Given the description of an element on the screen output the (x, y) to click on. 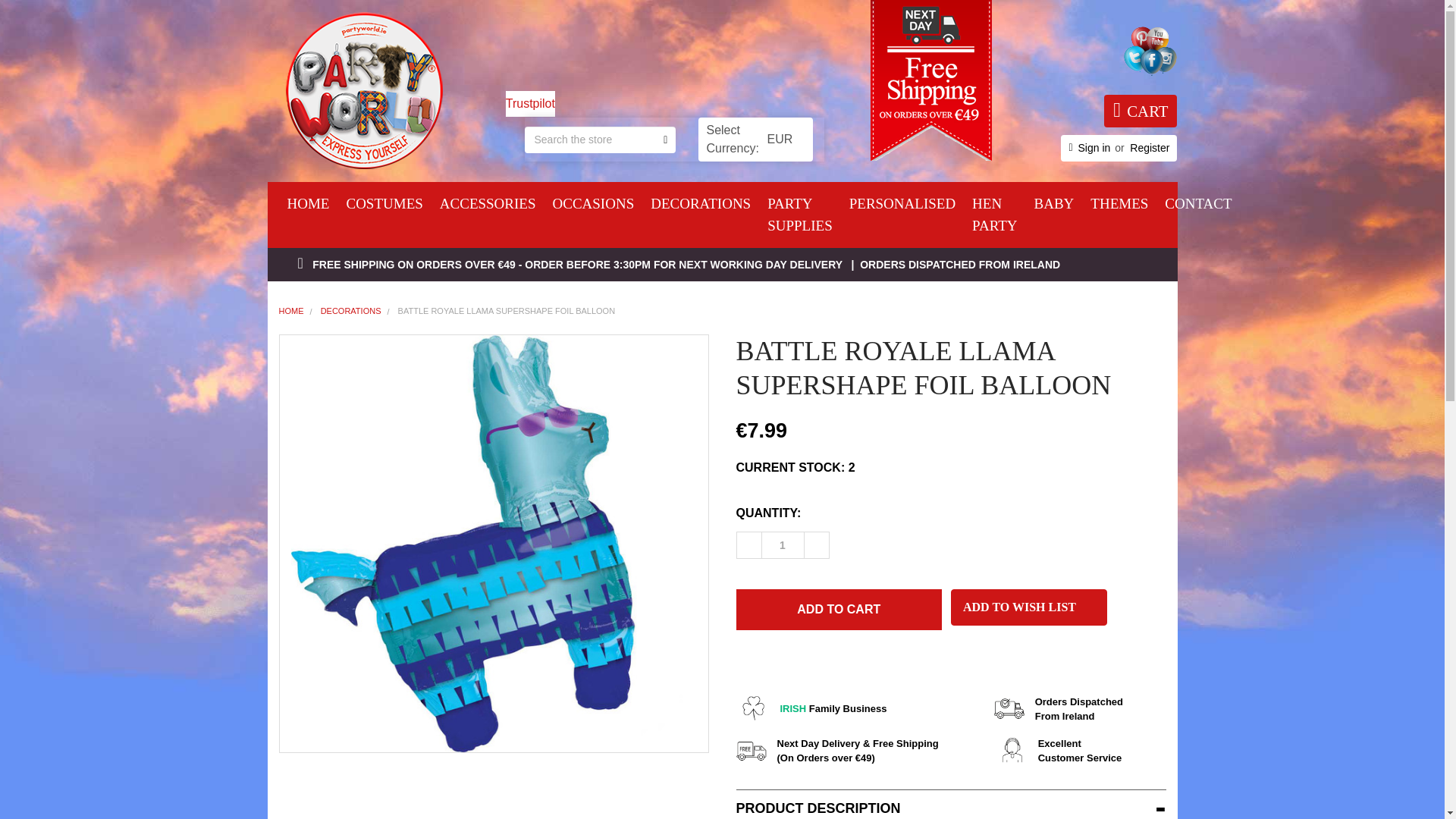
Search (660, 139)
1 (782, 544)
Sign in (1093, 148)
Register (1149, 148)
Cart (1139, 111)
COSTUMES (383, 203)
HOME (308, 203)
CART (1139, 111)
Add to Cart (838, 608)
PartyWorld (363, 90)
